Given the description of an element on the screen output the (x, y) to click on. 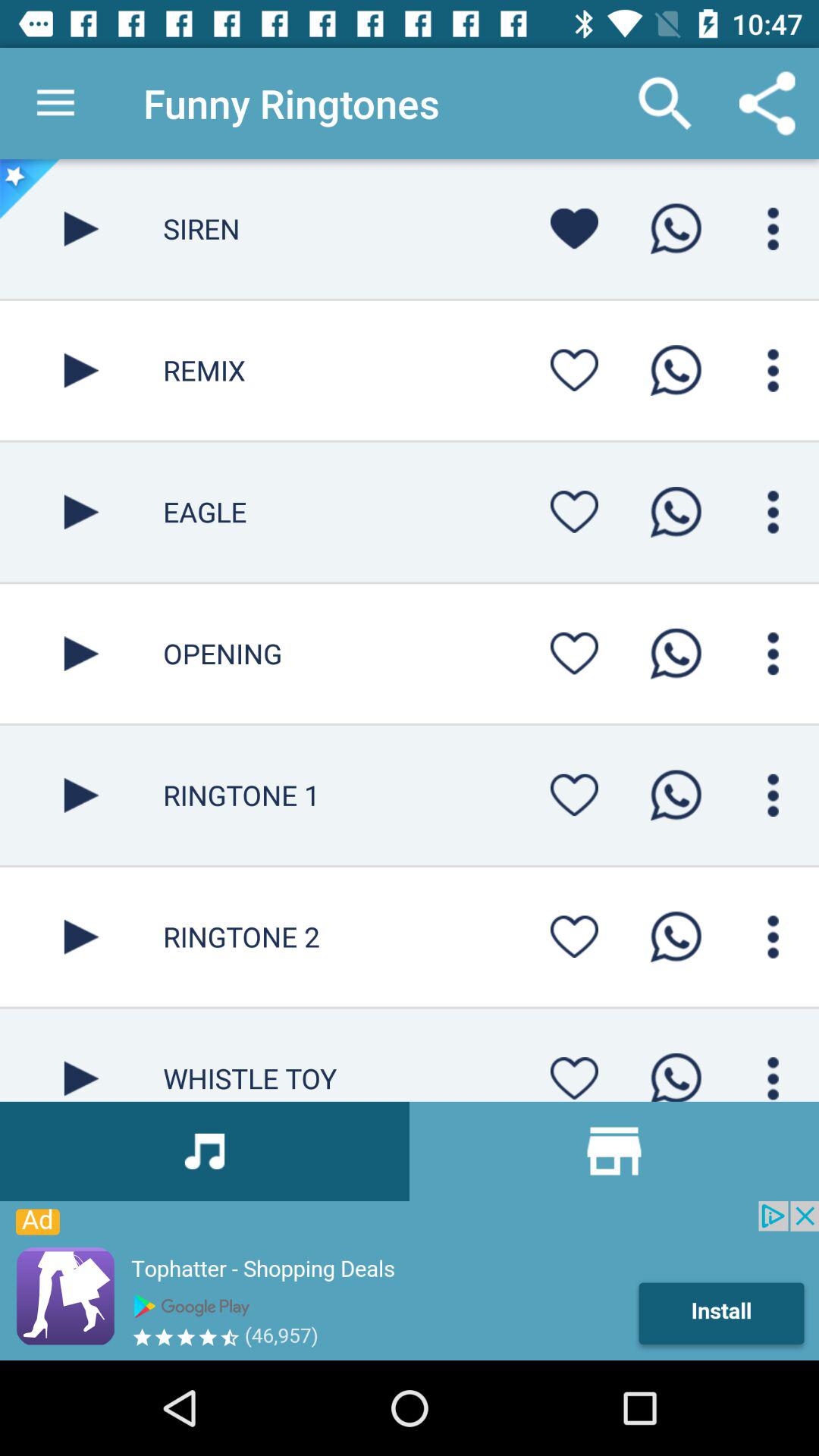
apply the ringtone (675, 794)
